Given the description of an element on the screen output the (x, y) to click on. 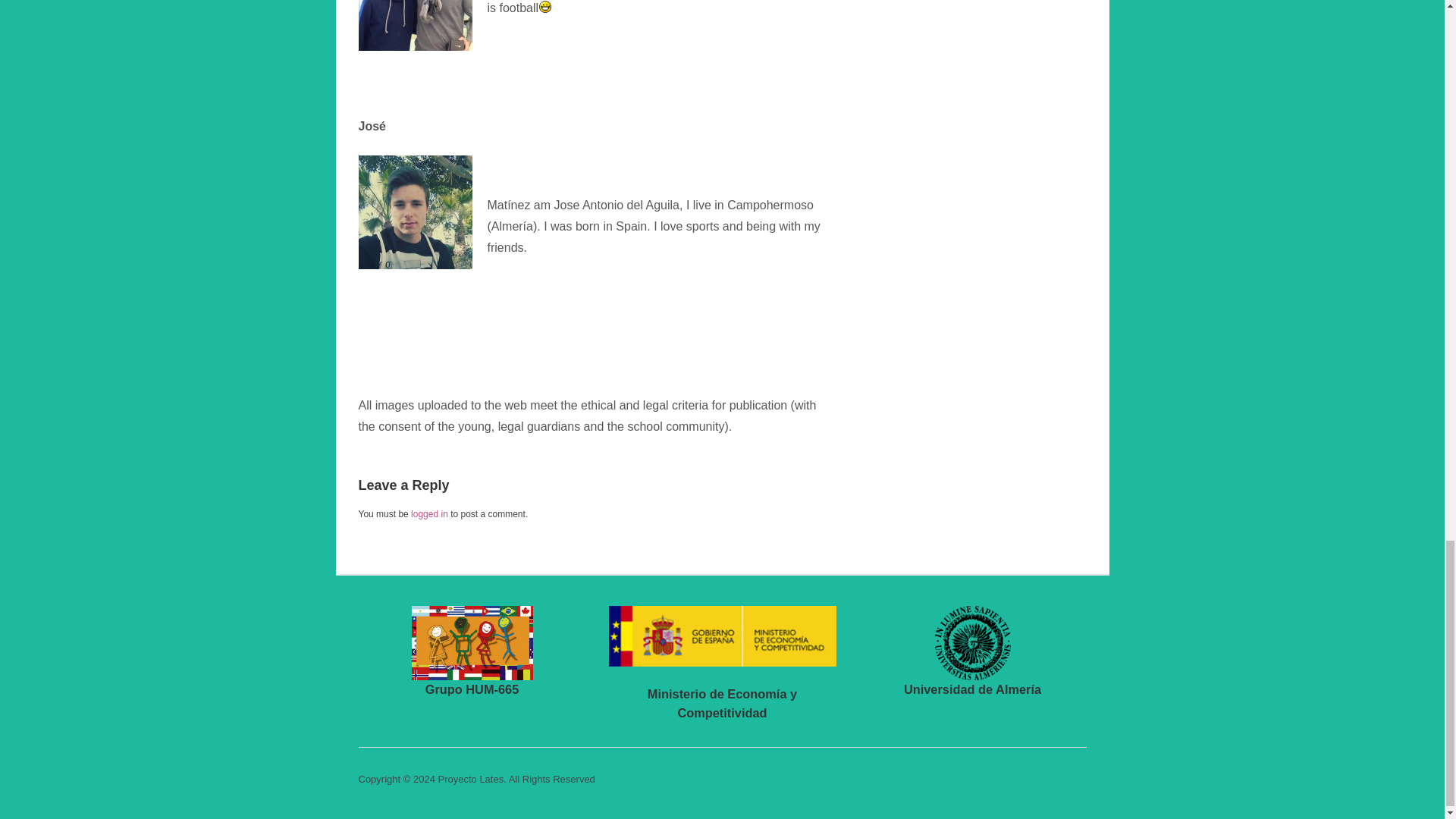
logged in (429, 513)
